Given the description of an element on the screen output the (x, y) to click on. 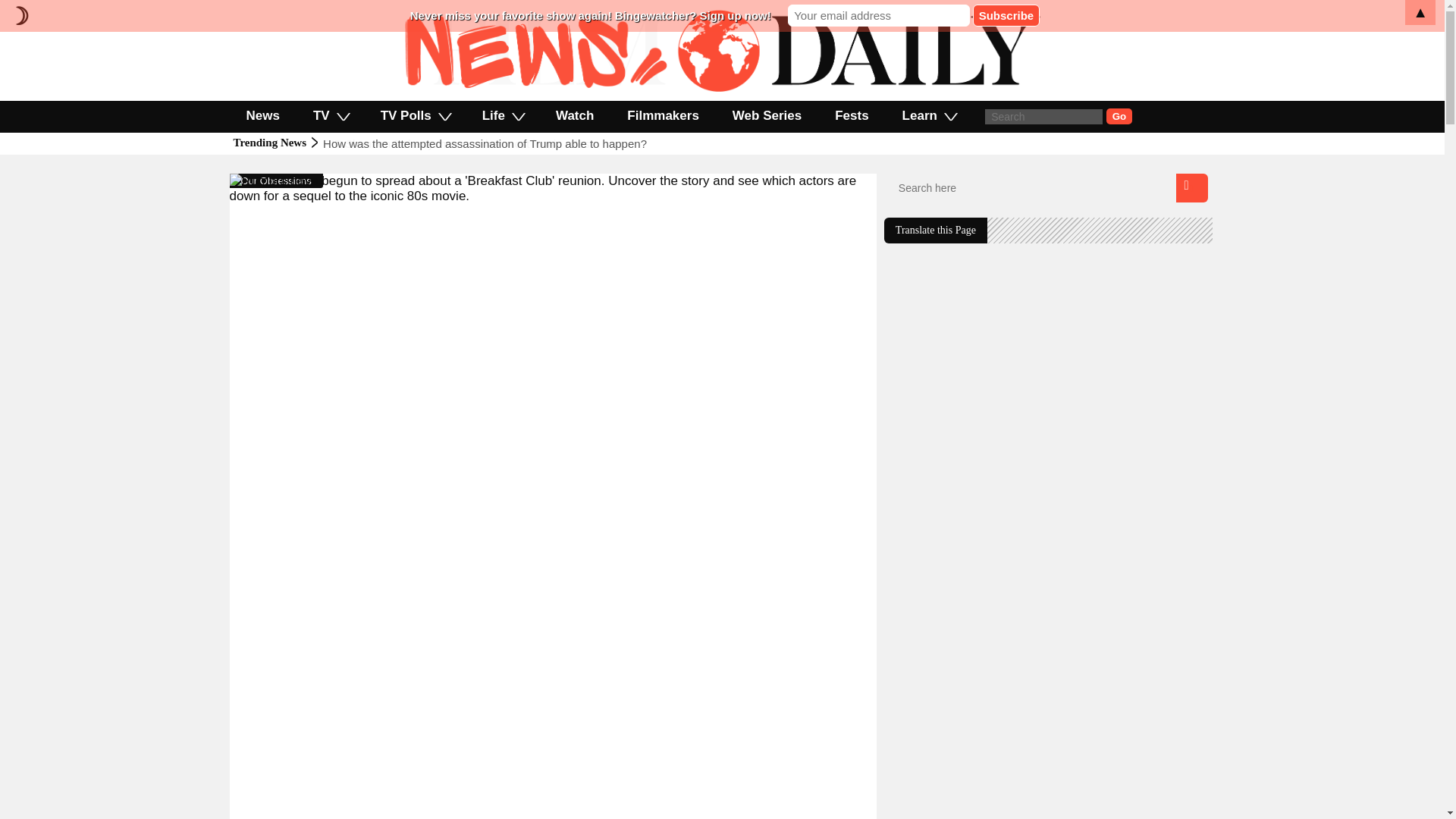
TV Polls (414, 115)
Filmmakers (663, 115)
Go (1119, 116)
Our Obsessions (276, 180)
RIP Shannen Doherty: here are her most iconic roles (456, 143)
News (261, 115)
Web Series (767, 115)
TV (330, 115)
Fests (851, 115)
Watch (574, 115)
Go (1119, 116)
Subscribe (1006, 15)
Life (501, 115)
Learn (928, 115)
Go (1119, 116)
